Given the description of an element on the screen output the (x, y) to click on. 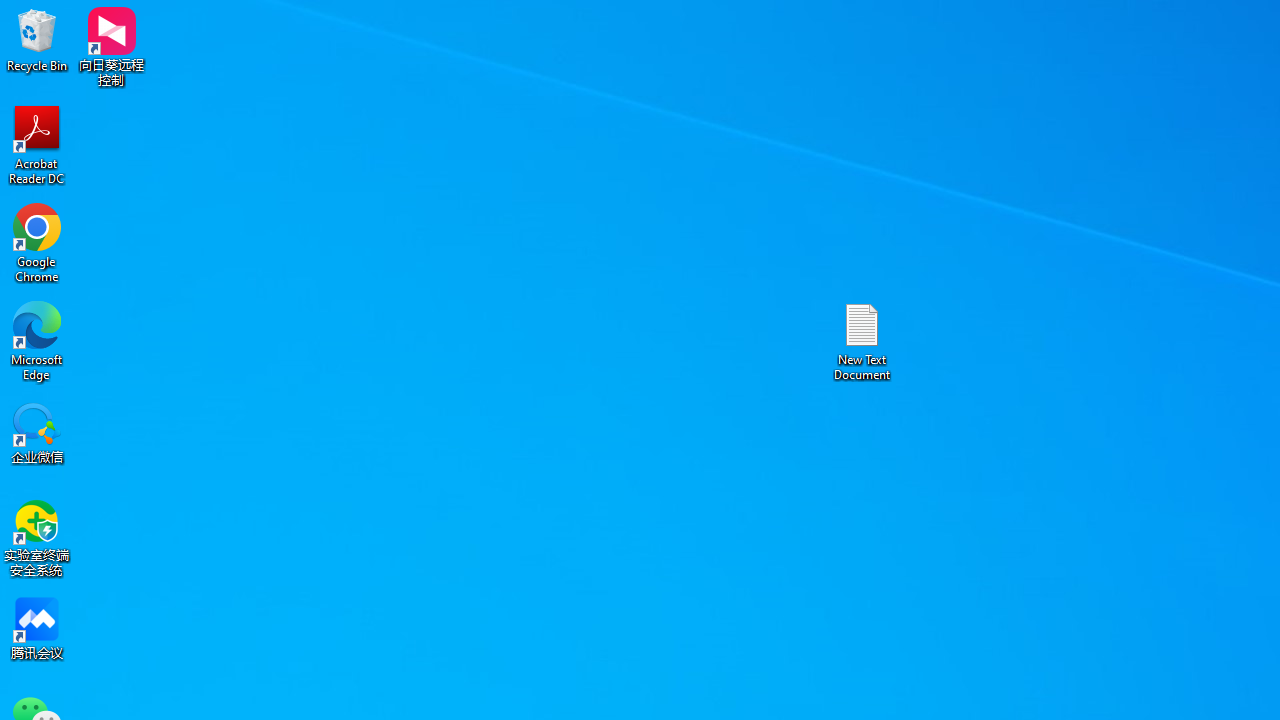
Font Color Red (426, 119)
